Given the description of an element on the screen output the (x, y) to click on. 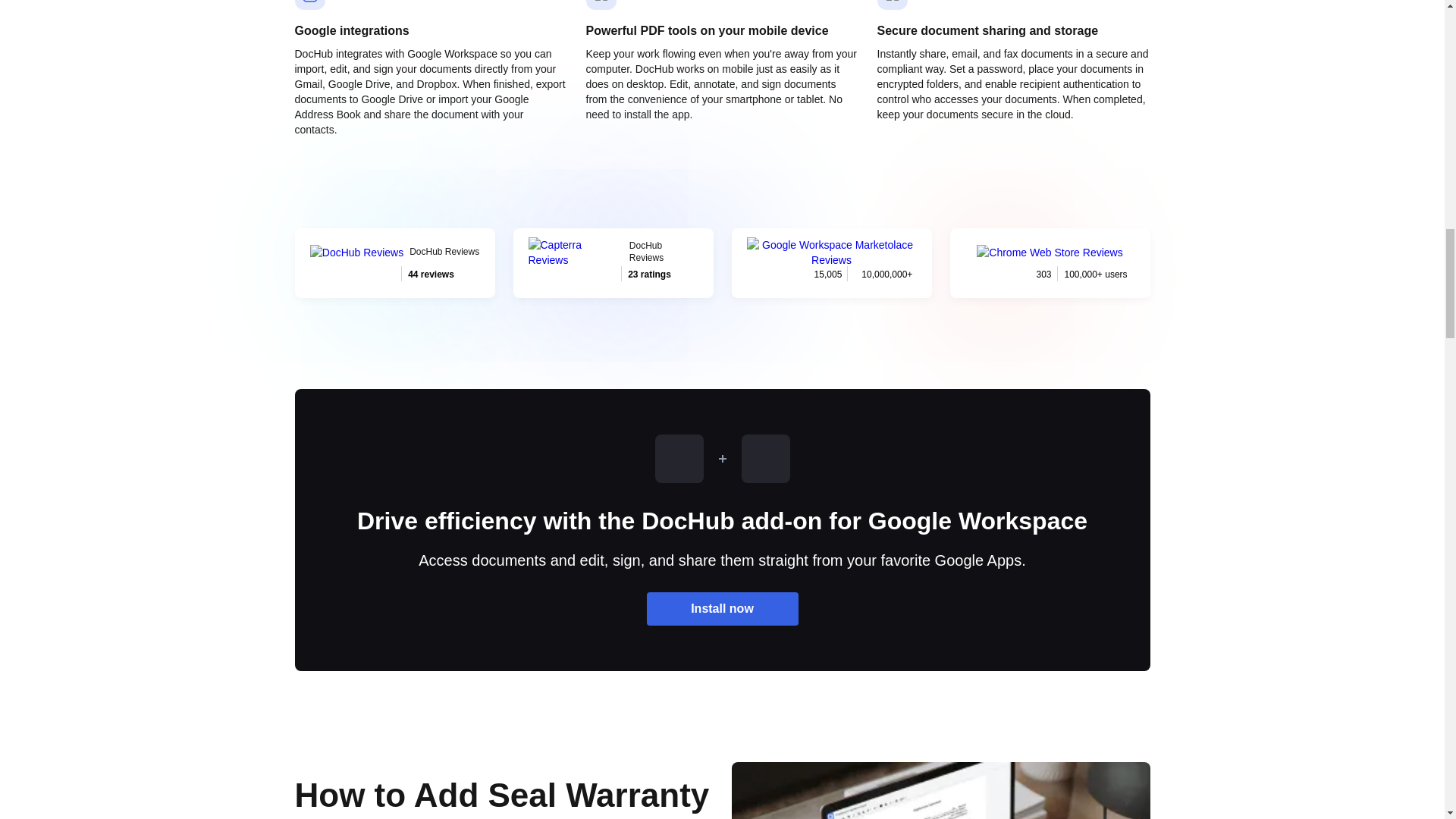
Install now (612, 263)
